Given the description of an element on the screen output the (x, y) to click on. 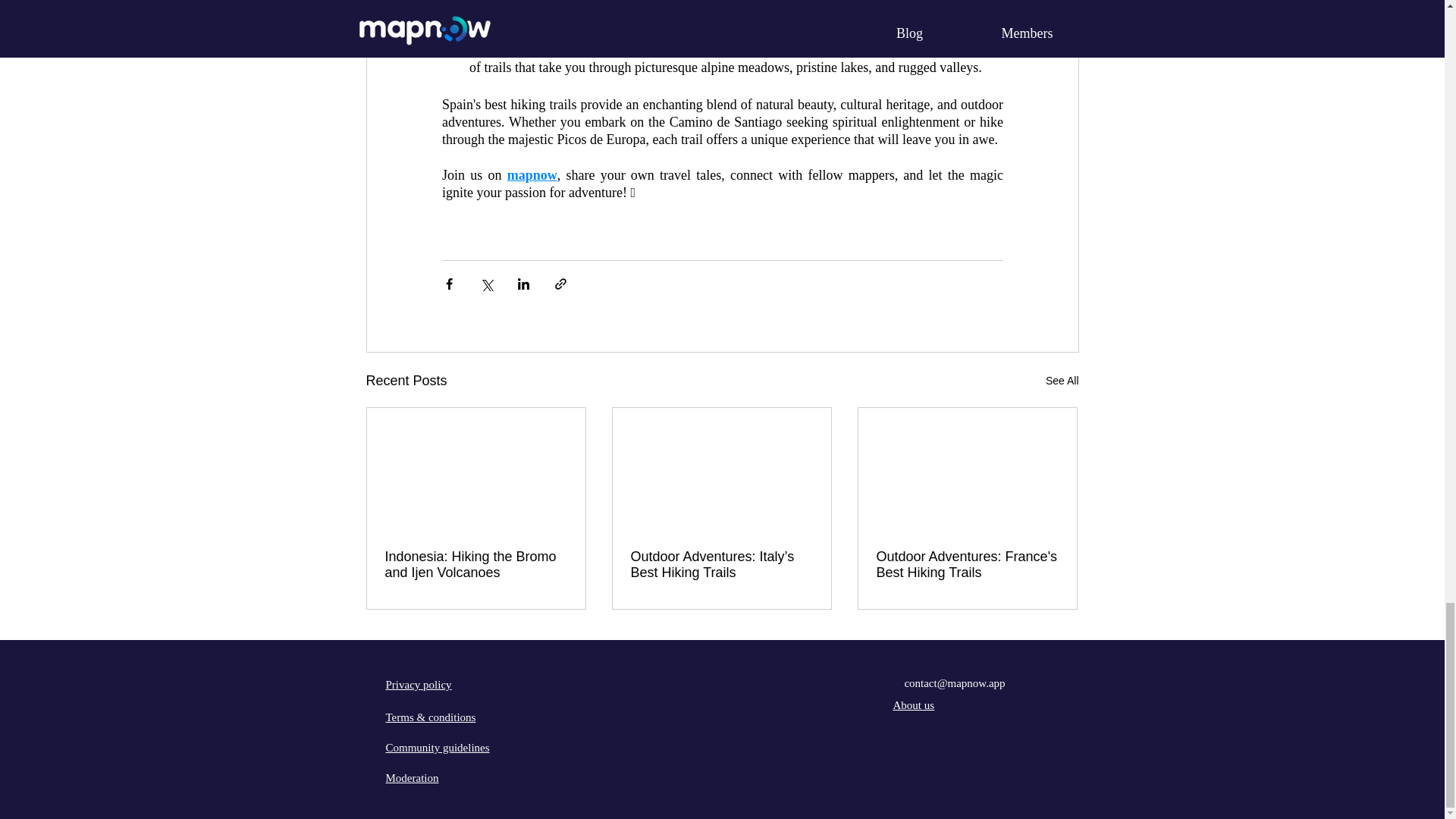
Indonesia: Hiking the Bromo and Ijen Volcanoes (476, 564)
About us (913, 705)
Community guidelines (437, 747)
Moderation (411, 777)
Privacy policy (418, 684)
Outdoor Adventures: France's Best Hiking Trails (967, 564)
mapnow (531, 174)
See All (1061, 381)
